Given the description of an element on the screen output the (x, y) to click on. 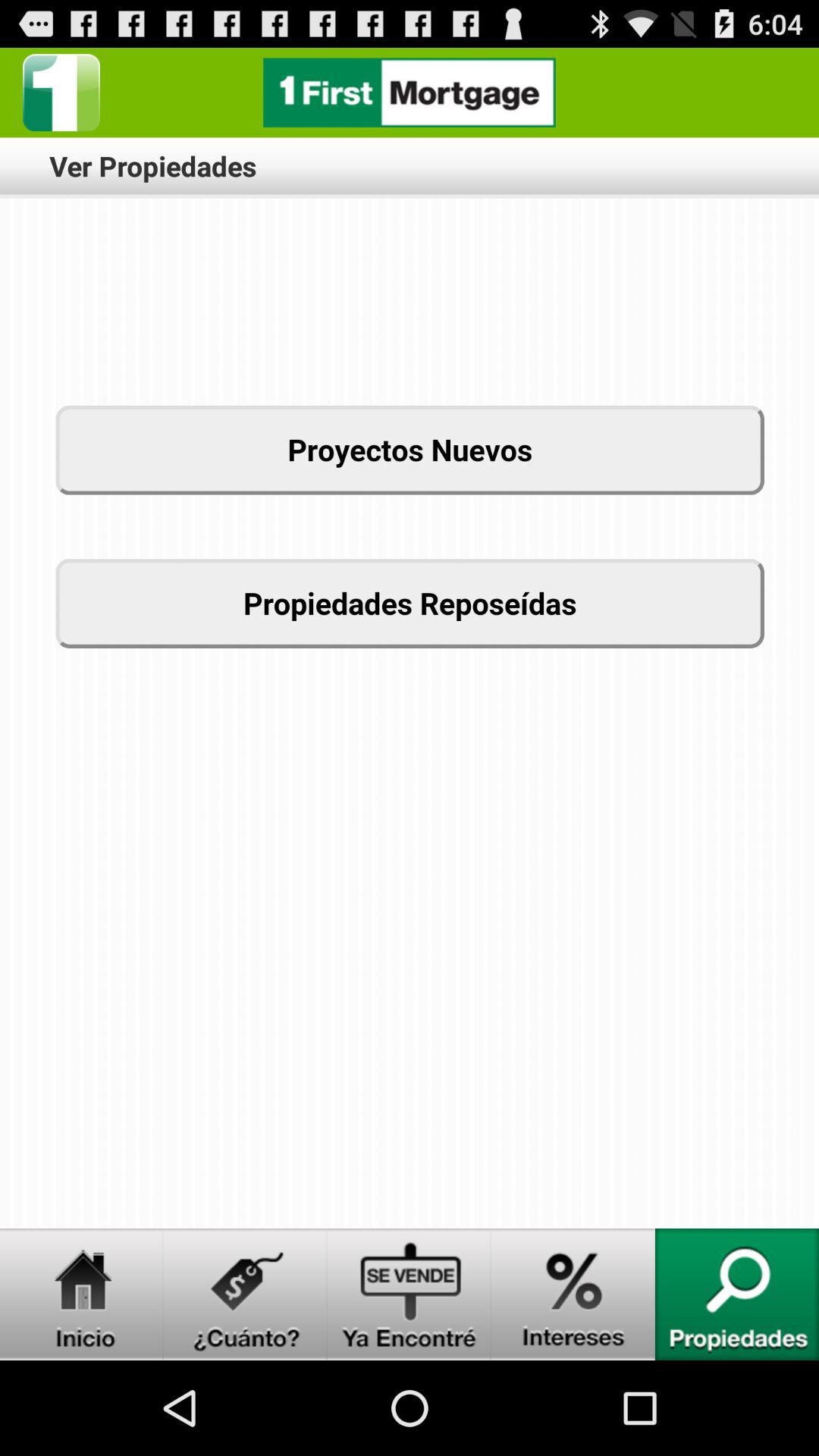
intereses button link (573, 1294)
